Given the description of an element on the screen output the (x, y) to click on. 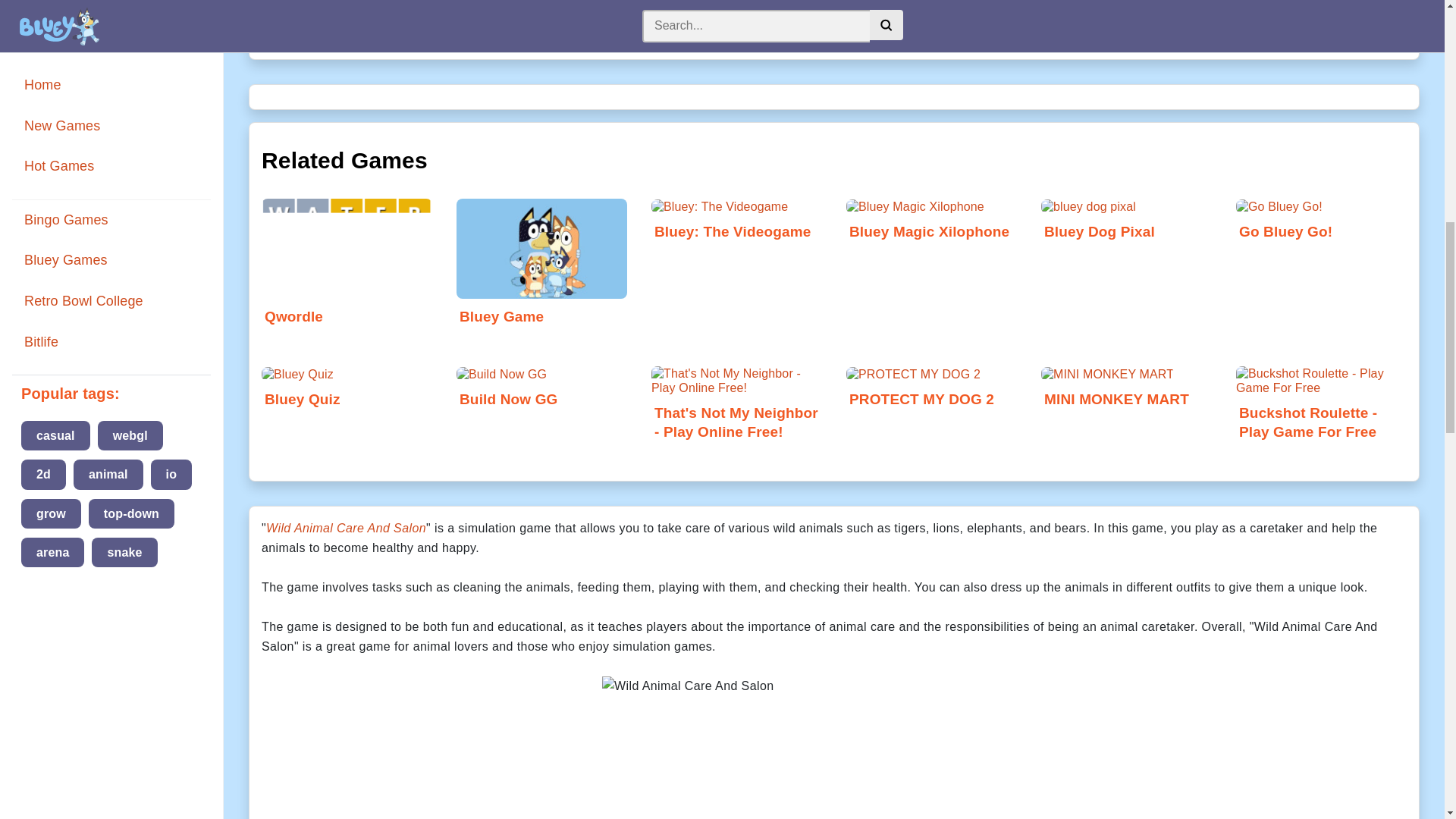
Bluey Quiz (347, 389)
Buckshot Roulette - Play Game For Free (1321, 408)
Bluey Dog Pixal (1126, 221)
boys (740, 28)
PROTECT MY DOG 2 (930, 389)
dress up (807, 28)
Wild Animal Care And Salon (346, 527)
Qwordle (347, 284)
Bluey Magic Xilophone (930, 221)
doctor (879, 28)
Bluey Game (542, 284)
Build Now GG (542, 389)
Go Bluey Go! (1321, 221)
That'S Not My Neighbor - Play Online Free! (736, 408)
MINI MONKEY MART (1126, 389)
